Given the description of an element on the screen output the (x, y) to click on. 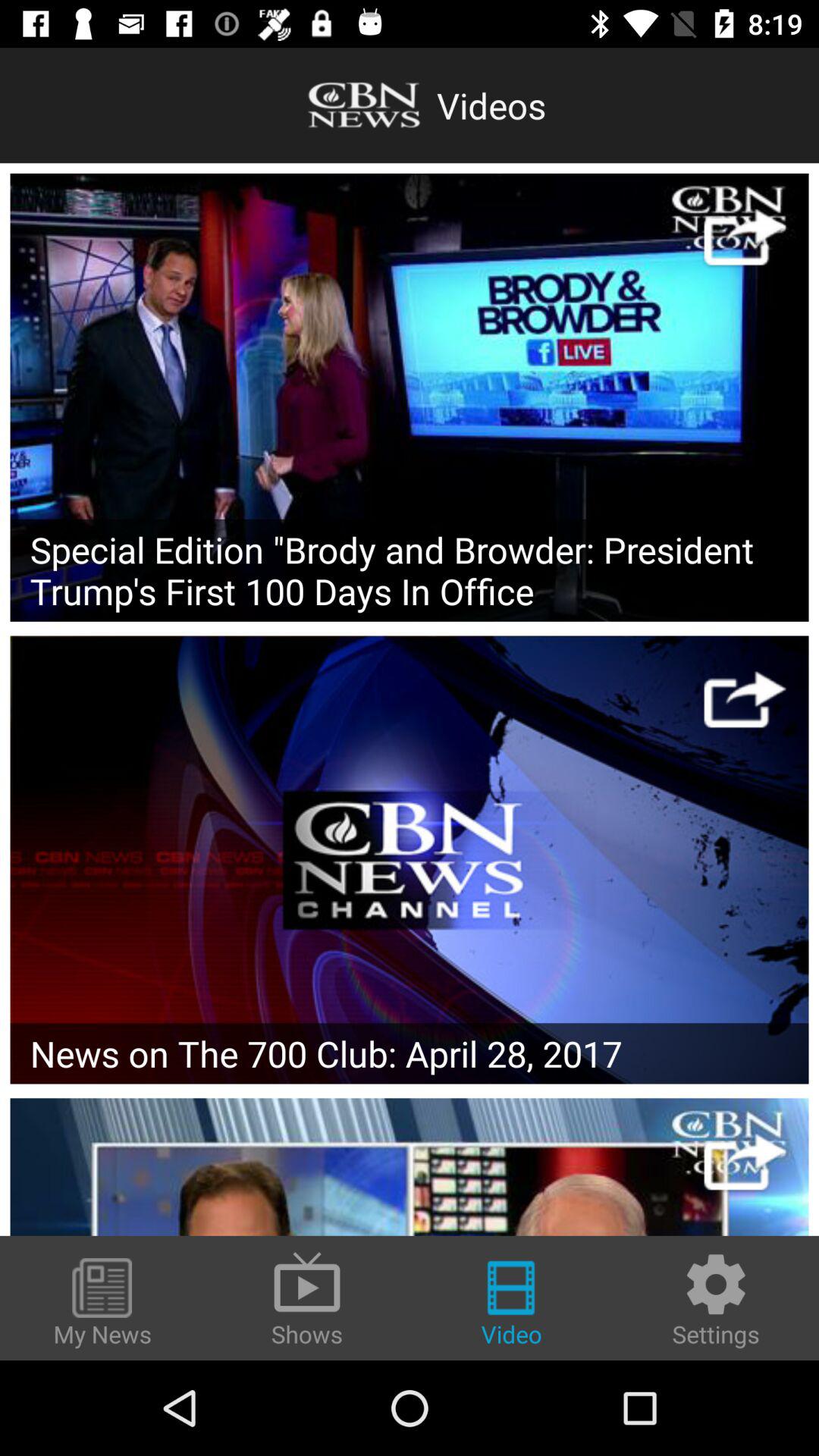
jump until the special edition brody (409, 570)
